Given the description of an element on the screen output the (x, y) to click on. 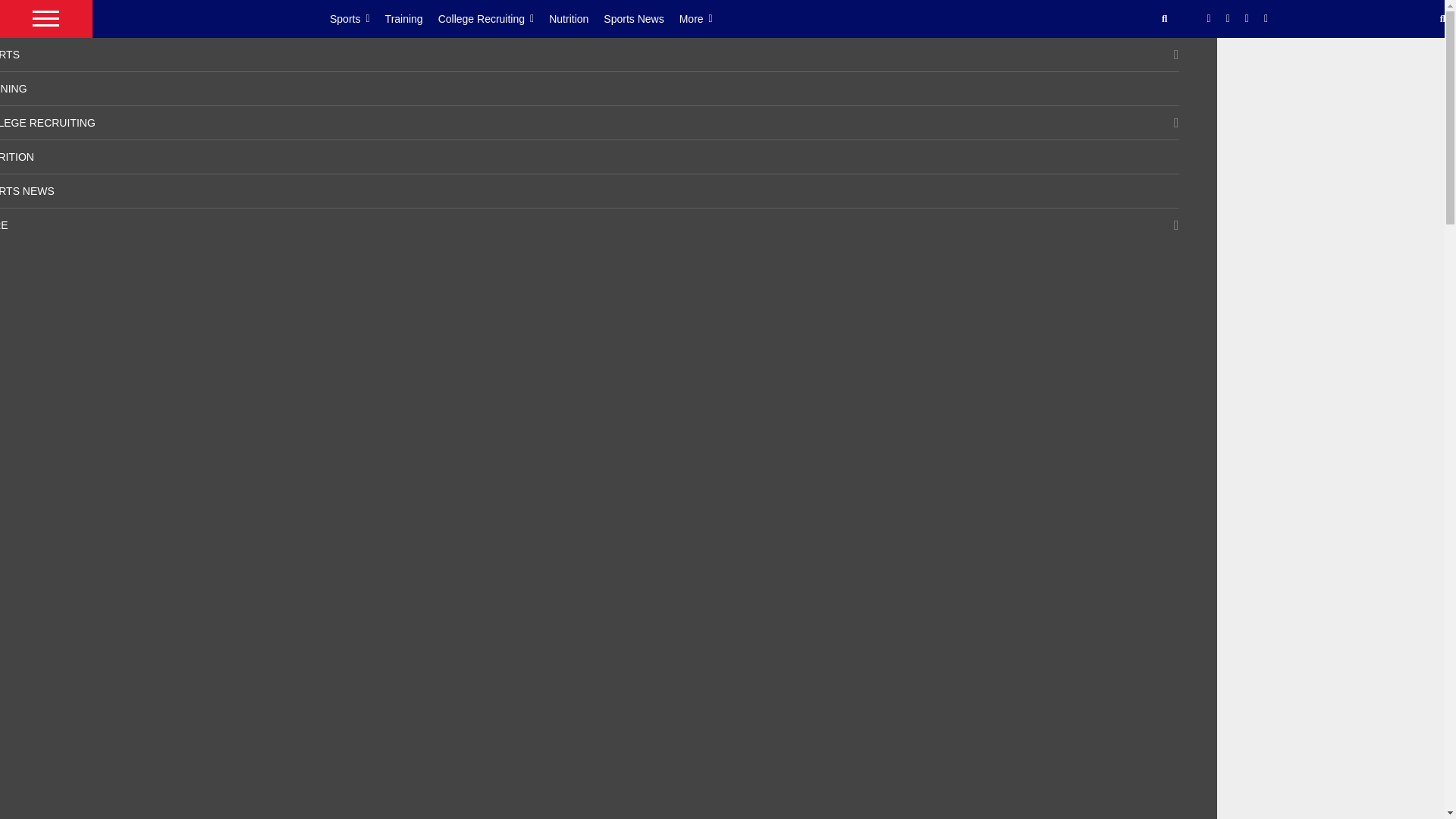
Sports (357, 18)
Nutrition (576, 18)
College Recruiting (494, 18)
SPORTS (10, 54)
More (703, 18)
Sports News (641, 18)
Training (411, 18)
